Given the description of an element on the screen output the (x, y) to click on. 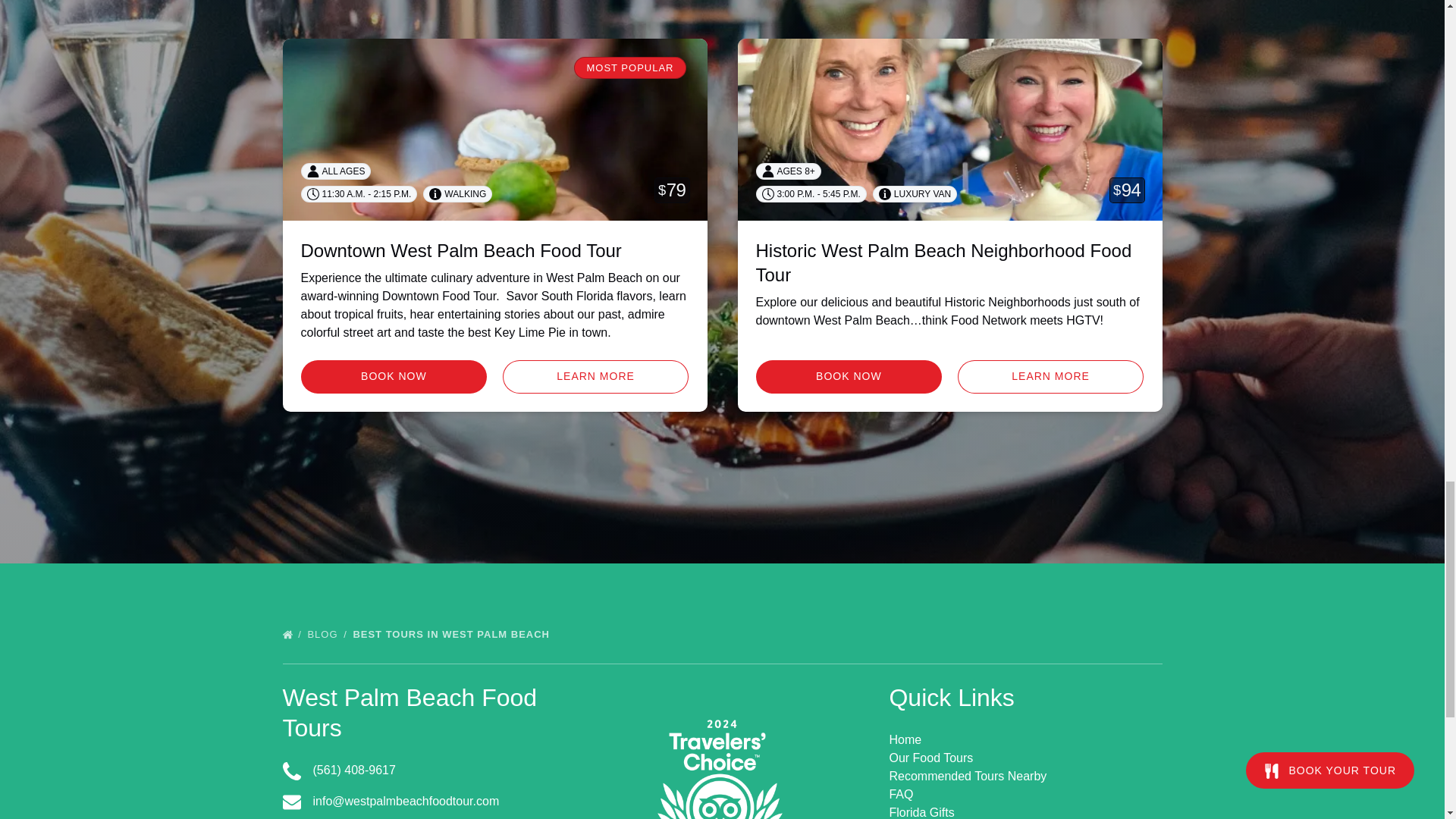
Envelope (290, 802)
Phone (290, 771)
